Given the description of an element on the screen output the (x, y) to click on. 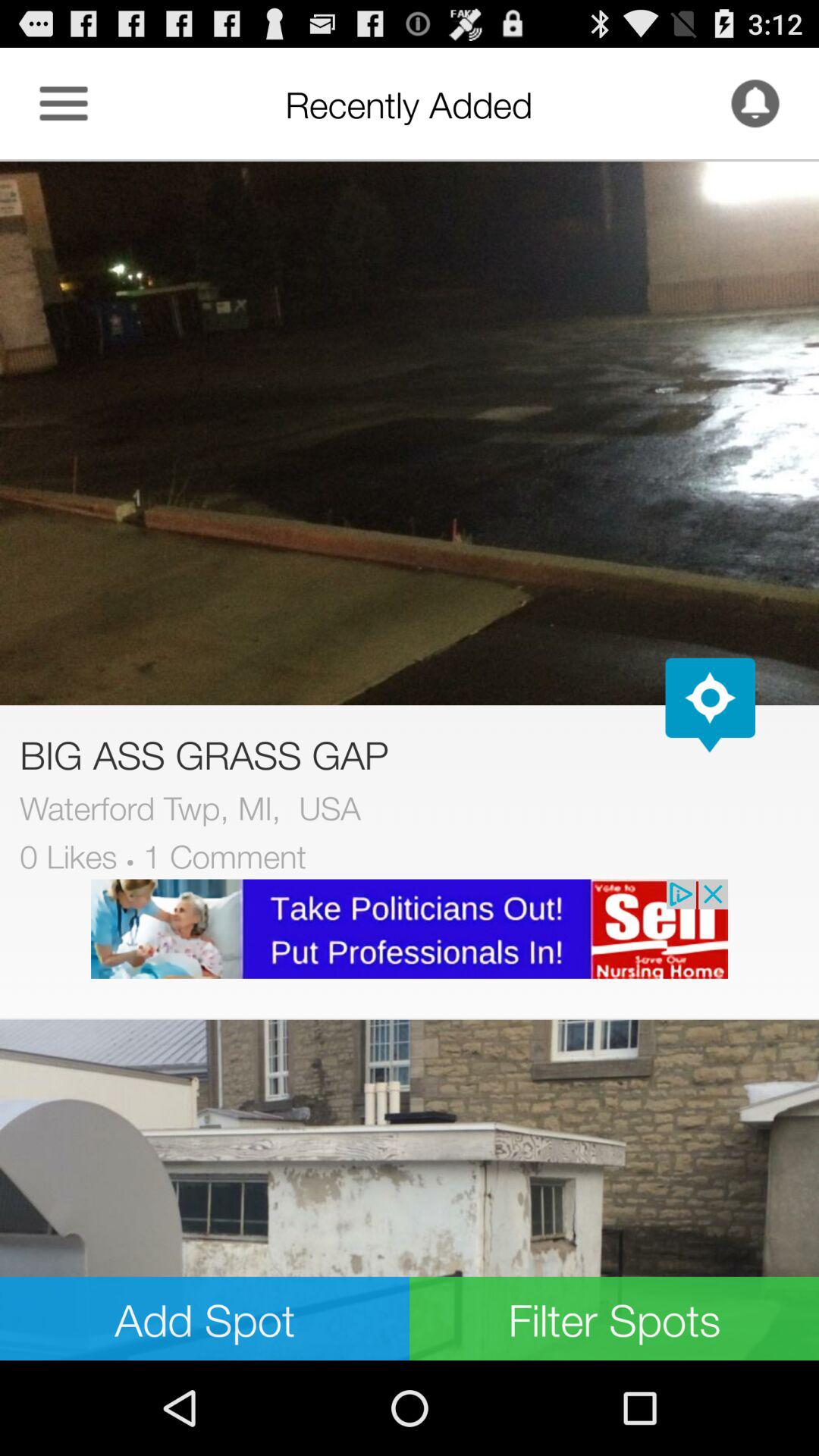
location (710, 705)
